Given the description of an element on the screen output the (x, y) to click on. 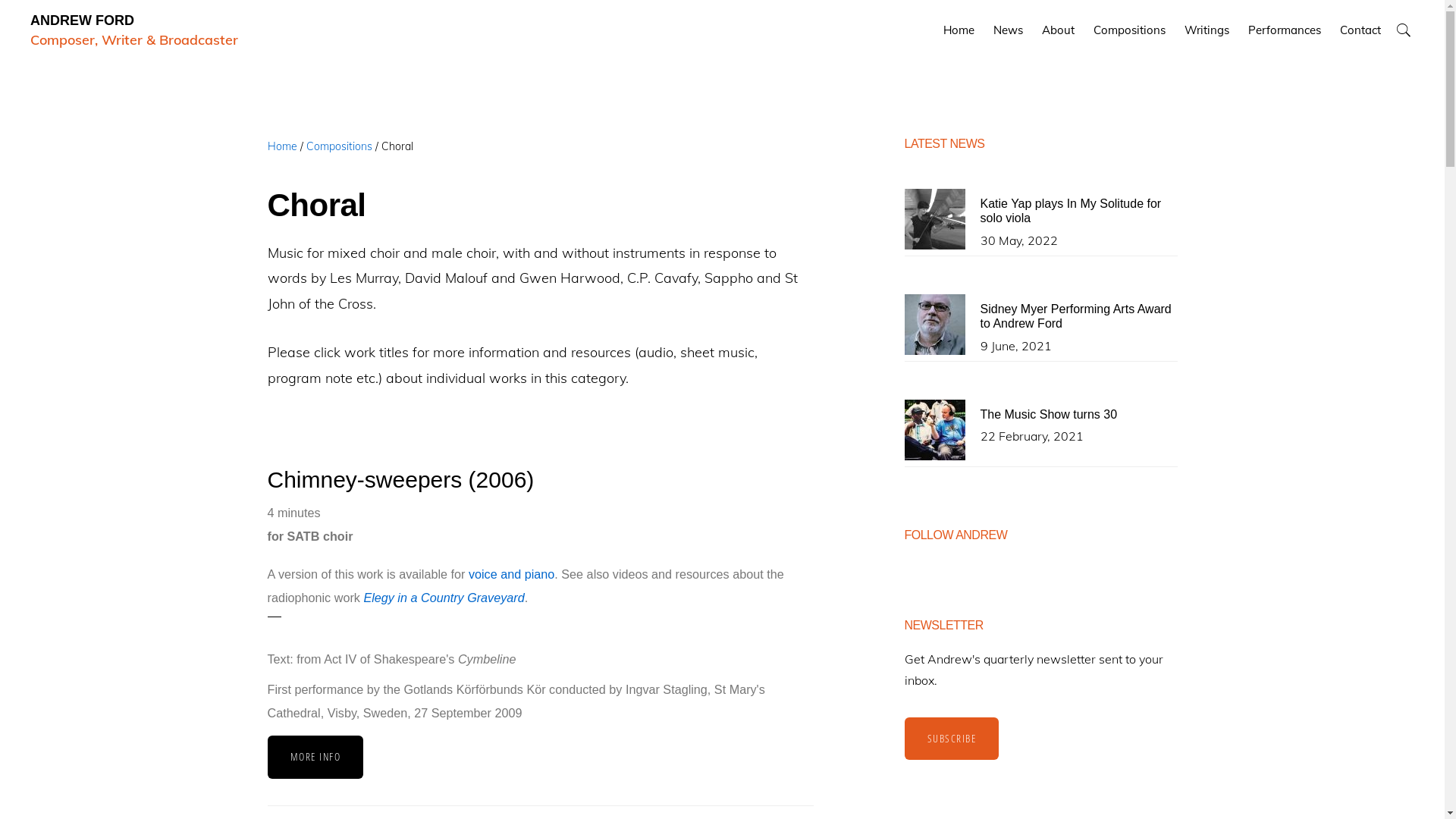
News Element type: text (1007, 29)
Contact Element type: text (1360, 29)
Home Element type: text (958, 29)
Writings Element type: text (1206, 29)
Katie Yap plays In My Solitude for solo viola Element type: text (1070, 210)
Show Search Element type: text (1403, 29)
Home Element type: text (281, 146)
Performances Element type: text (1284, 29)
Compositions Element type: text (1129, 29)
SUBSCRIBE Element type: text (950, 738)
Chimney-sweepers (2006) Element type: text (399, 479)
MORE INFO Element type: text (314, 756)
voice and piano Element type: text (511, 573)
 SoundCloud Element type: text (841, 764)
Skip to primary navigation Element type: text (0, 0)
The Music Show turns 30 Element type: text (1048, 413)
Sidney Myer Performing Arts Award to Andrew Ford Element type: text (1074, 315)
 Twitter Element type: text (789, 764)
Compositions Element type: text (339, 146)
Elated Element type: text (758, 780)
Privacy & Copyright Element type: text (721, 764)
Elegy in a Country Graveyard Element type: text (443, 597)
About Element type: text (1058, 29)
ANDREW FORD Element type: text (82, 20)
